Given the description of an element on the screen output the (x, y) to click on. 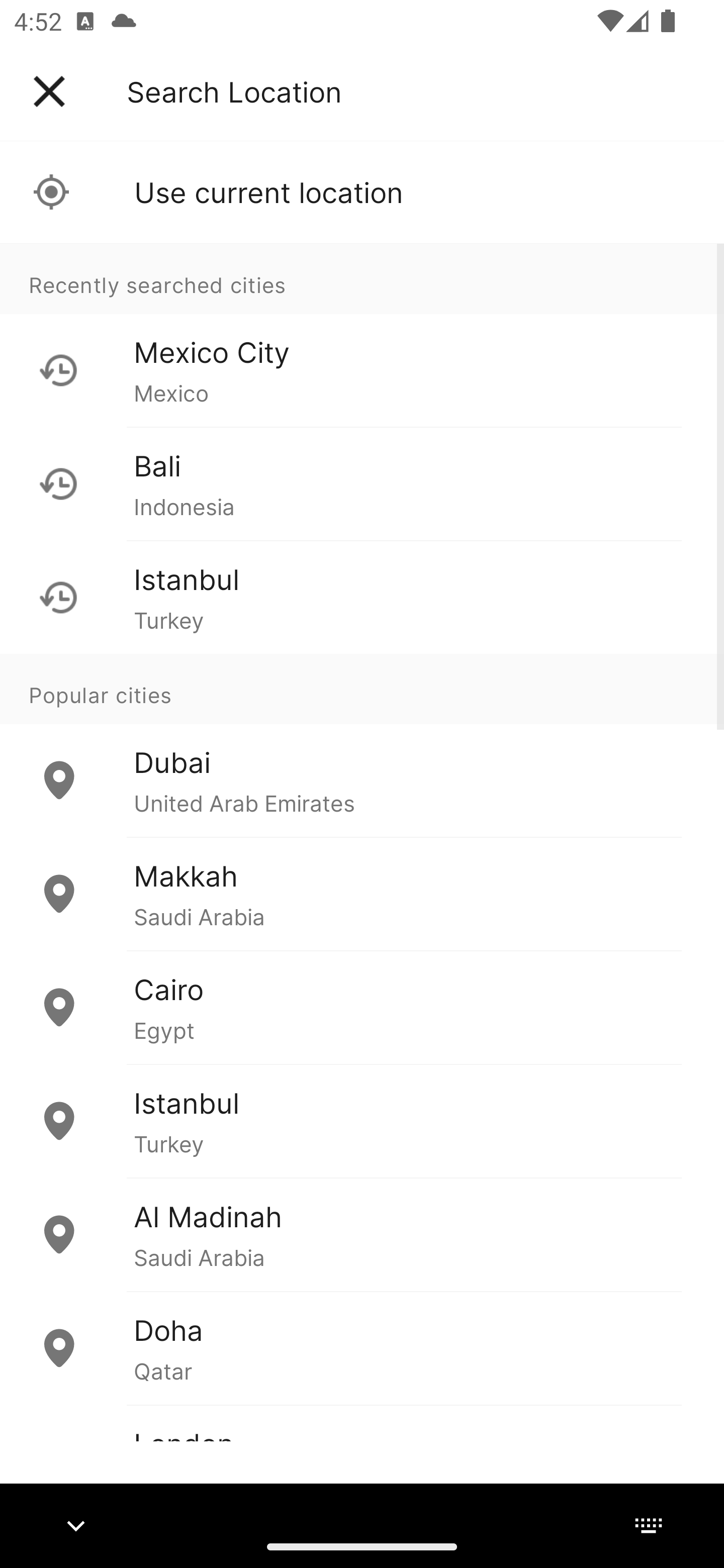
Search Location (234, 91)
Use current location (362, 192)
Recently searched cities Mexico City Mexico (362, 334)
Recently searched cities (362, 278)
Bali Indonesia (362, 483)
Istanbul Turkey (362, 596)
Popular cities Dubai United Arab Emirates (362, 745)
Popular cities (362, 688)
Makkah Saudi Arabia (362, 893)
Cairo Egypt (362, 1007)
Istanbul Turkey (362, 1120)
Al Madinah Saudi Arabia (362, 1233)
Doha Qatar (362, 1347)
